Given the description of an element on the screen output the (x, y) to click on. 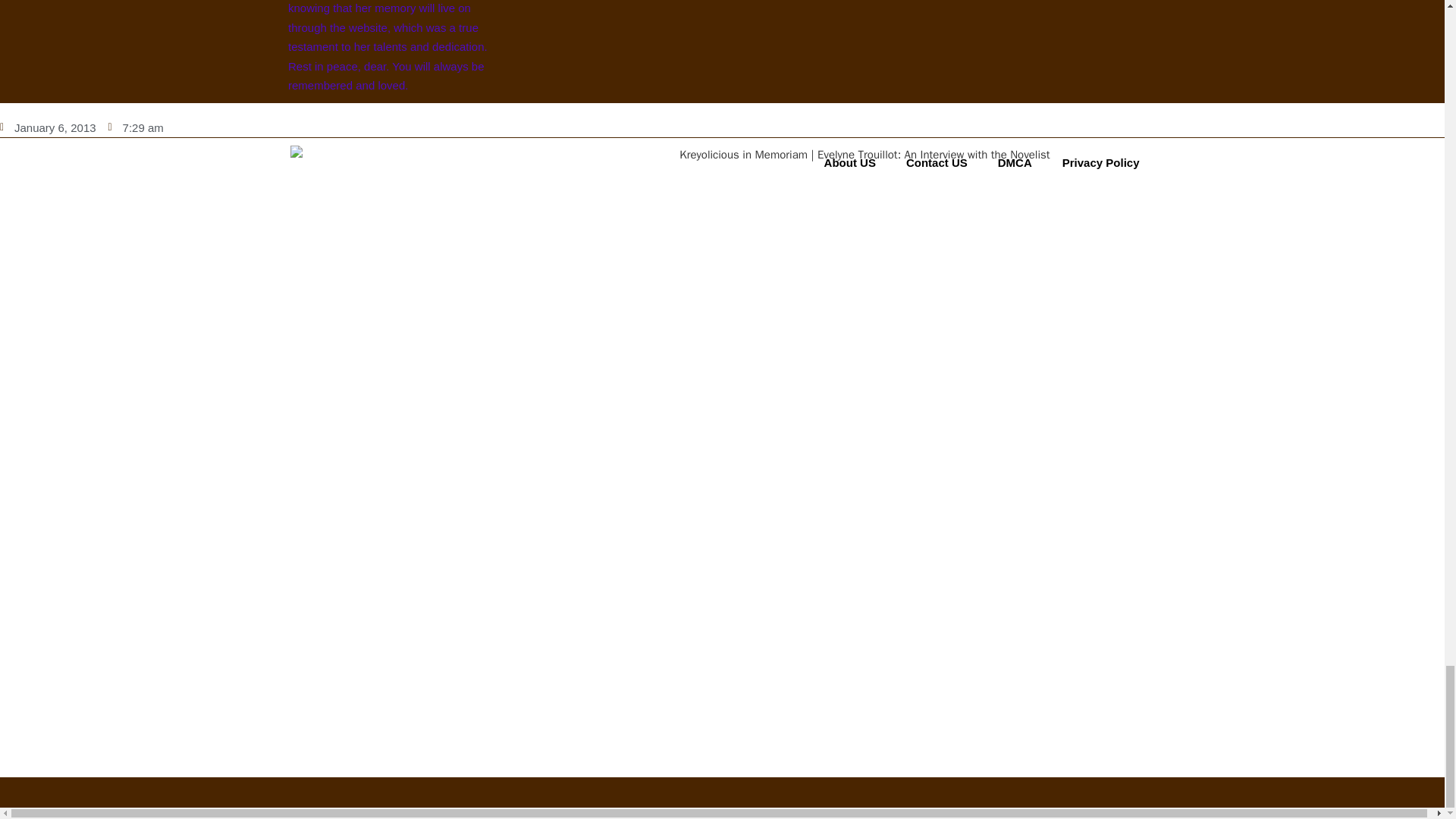
Contact US (936, 162)
DMCA (1014, 162)
January 6, 2013 (48, 127)
About US (850, 162)
Privacy Policy (1100, 162)
